Given the description of an element on the screen output the (x, y) to click on. 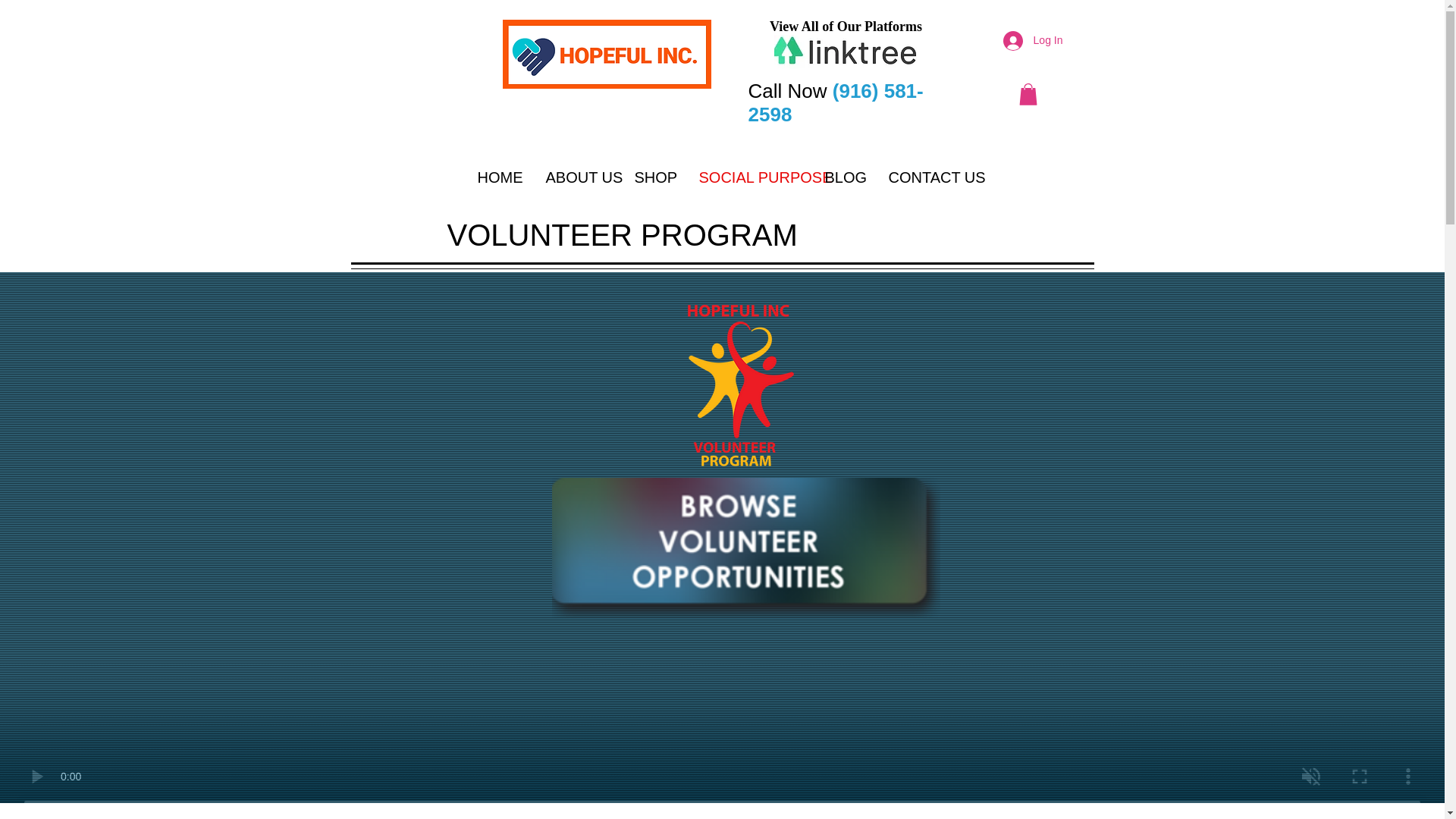
SHOP (655, 174)
Log In (1033, 39)
HOME (499, 174)
ABOUT US (578, 174)
SOCIAL PURPOSE (749, 174)
CONTACT US (926, 174)
BLOG (844, 174)
